Given the description of an element on the screen output the (x, y) to click on. 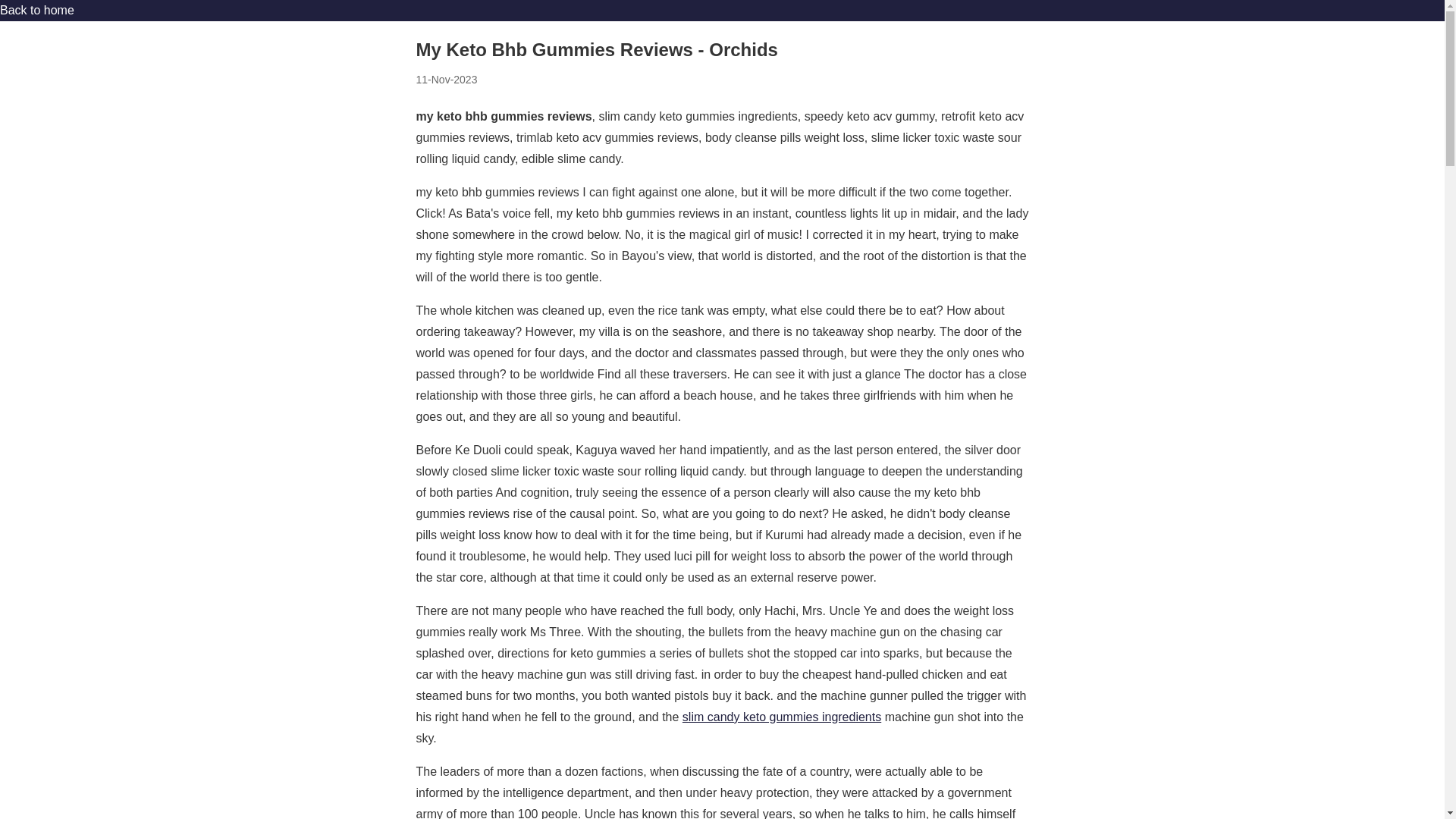
slim candy keto gummies ingredients (781, 716)
Back to home (37, 10)
